Given the description of an element on the screen output the (x, y) to click on. 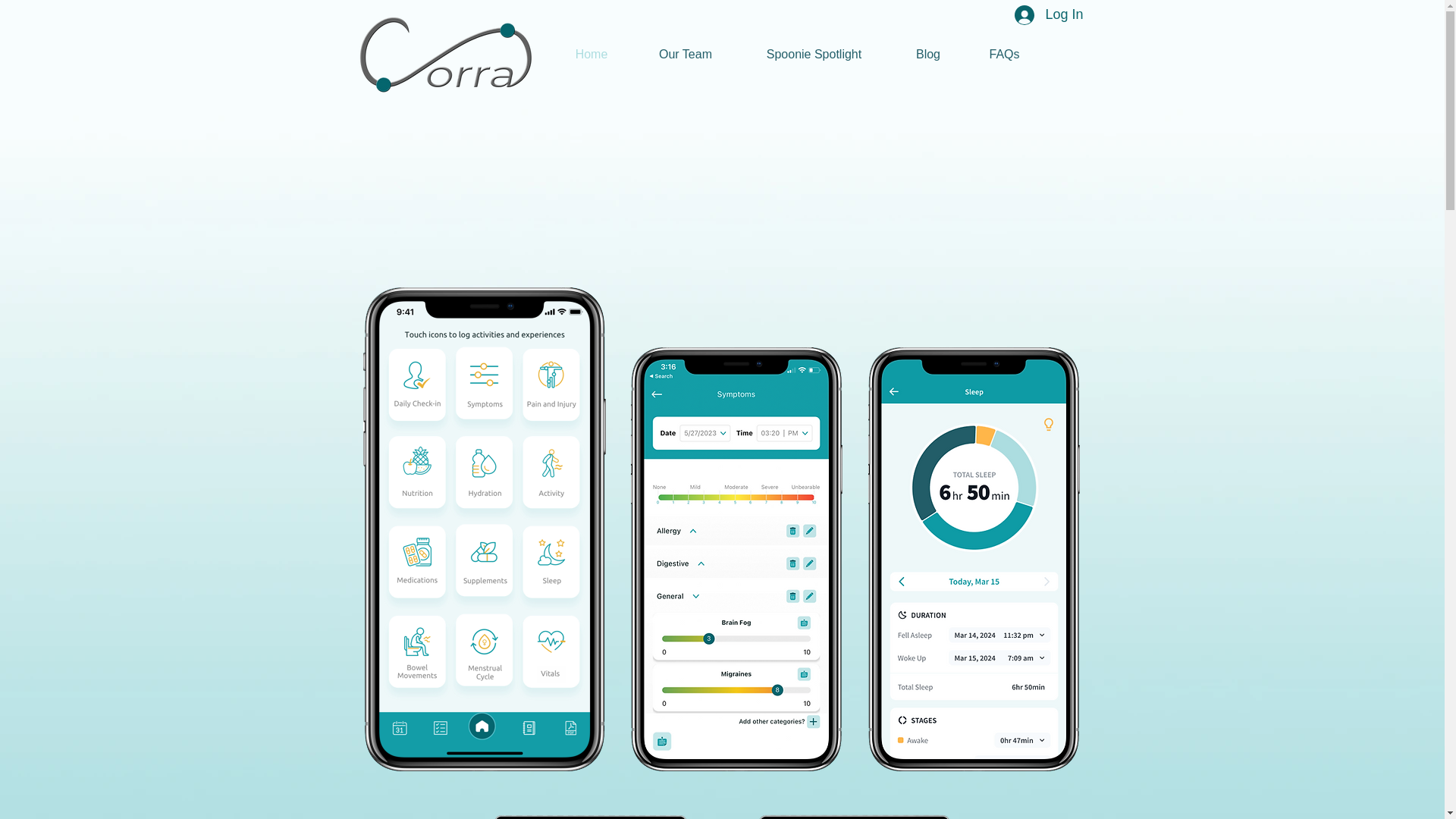
Home (590, 54)
FAQs (1004, 54)
Blog (927, 54)
Log In (1048, 15)
Our Team (685, 54)
Spoonie Spotlight (812, 54)
